Given the description of an element on the screen output the (x, y) to click on. 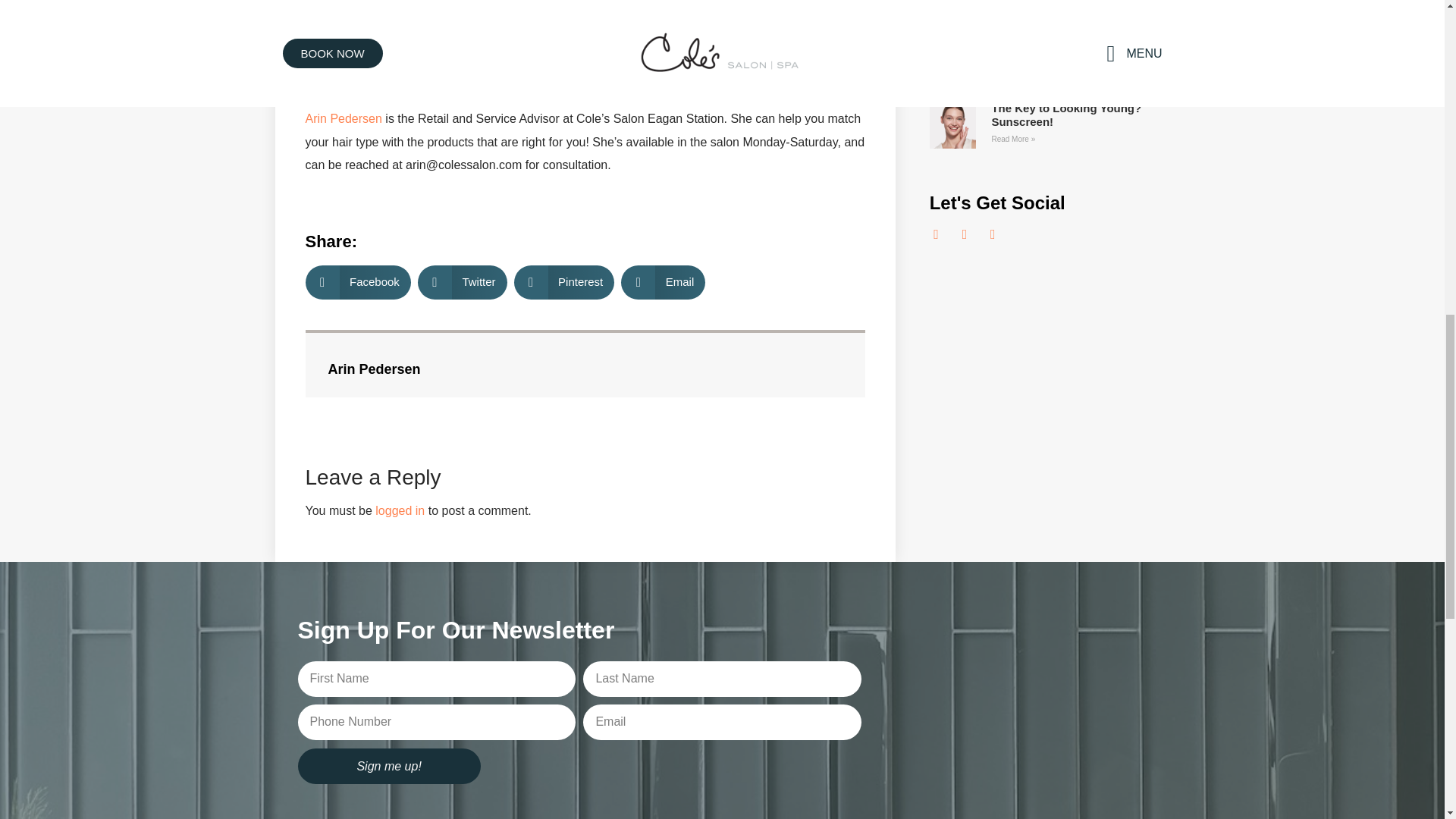
Arin Pedersen (342, 118)
Sign me up! (388, 765)
logged in (400, 510)
The Key to Looking Young? Sunscreen! (1066, 114)
Embrace Your Curls With Help From Aveda! (1072, 52)
